Given the description of an element on the screen output the (x, y) to click on. 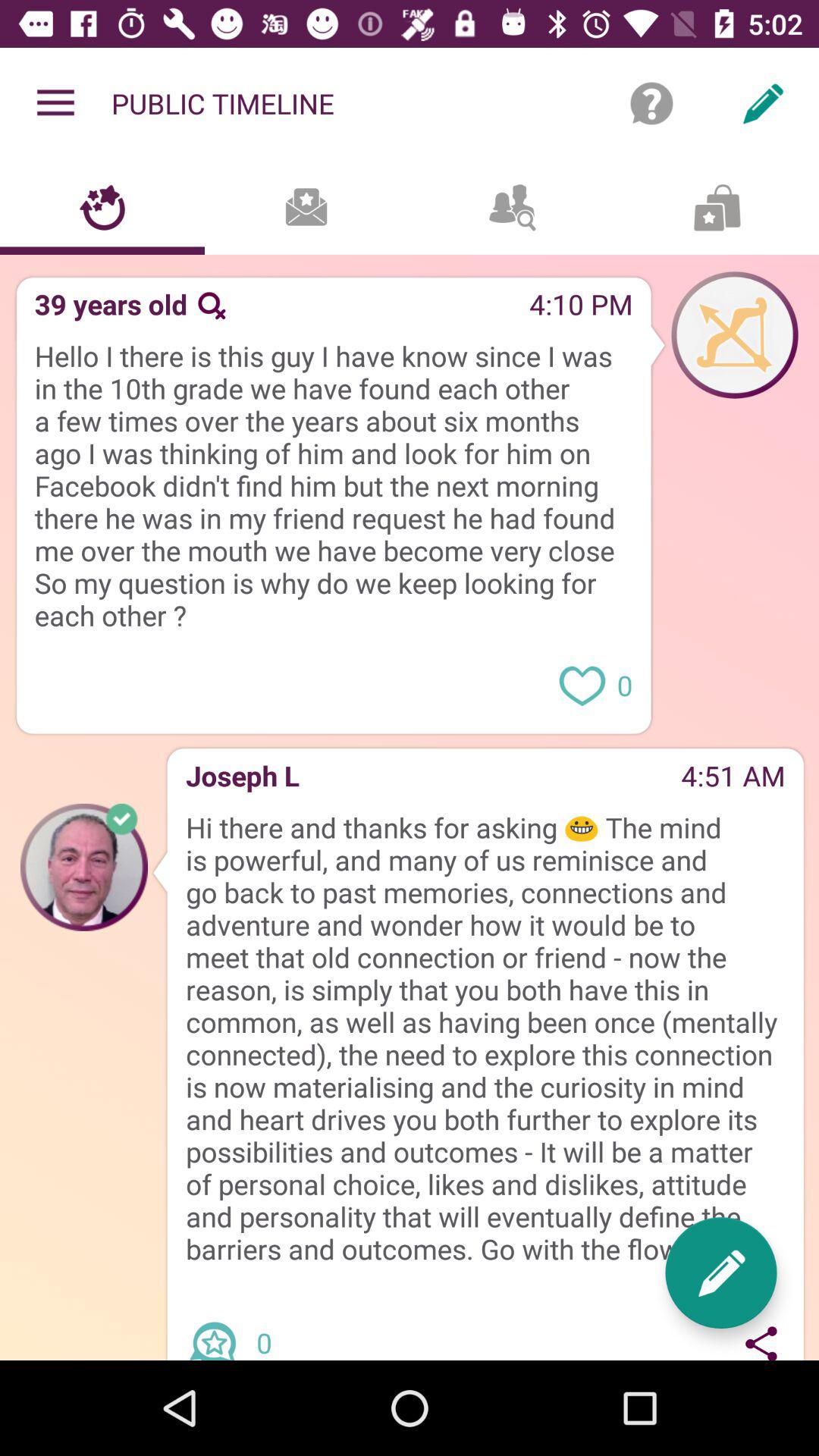
select profile (734, 334)
